Given the description of an element on the screen output the (x, y) to click on. 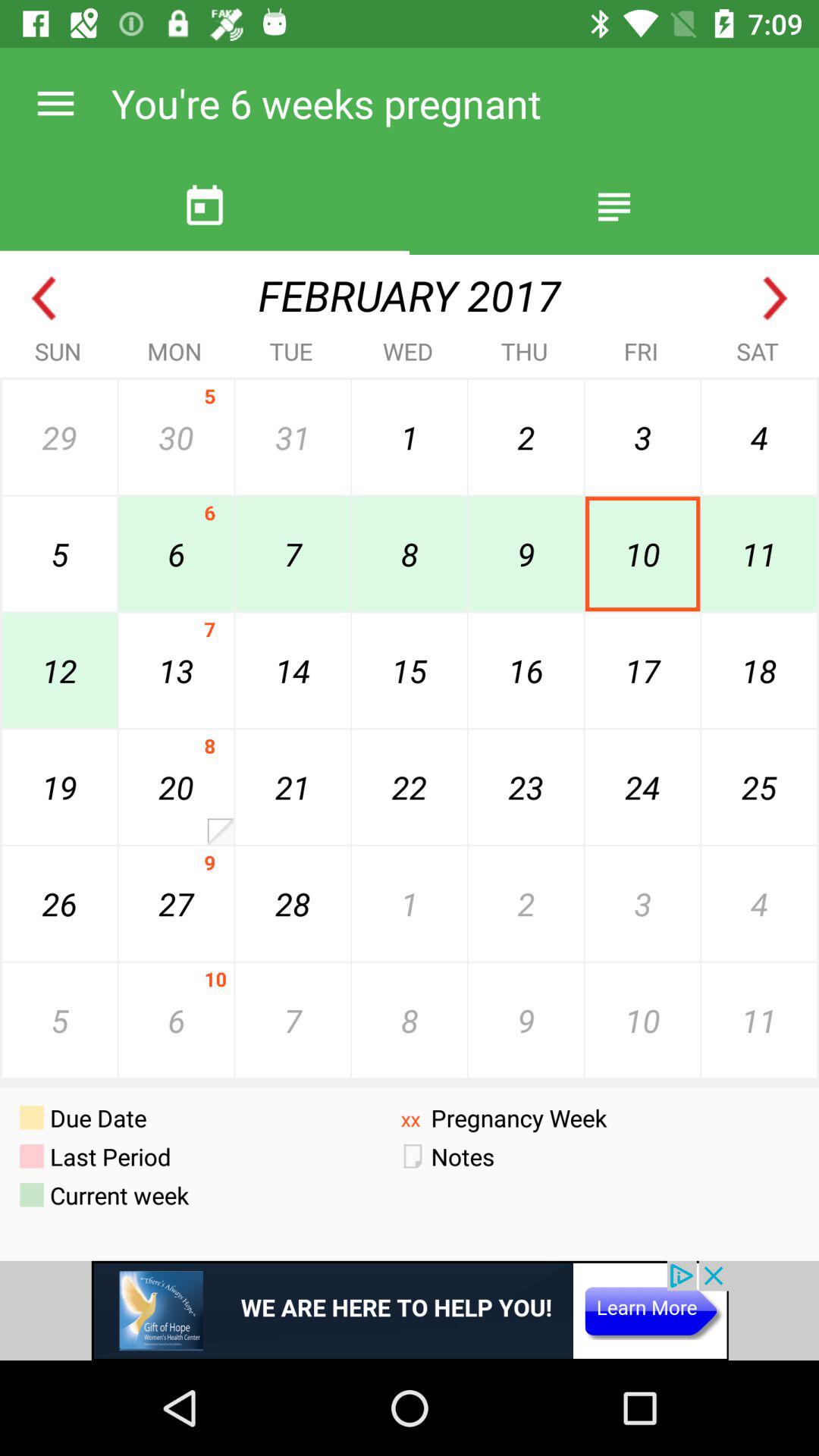
interact with the advertisement (409, 1310)
